Given the description of an element on the screen output the (x, y) to click on. 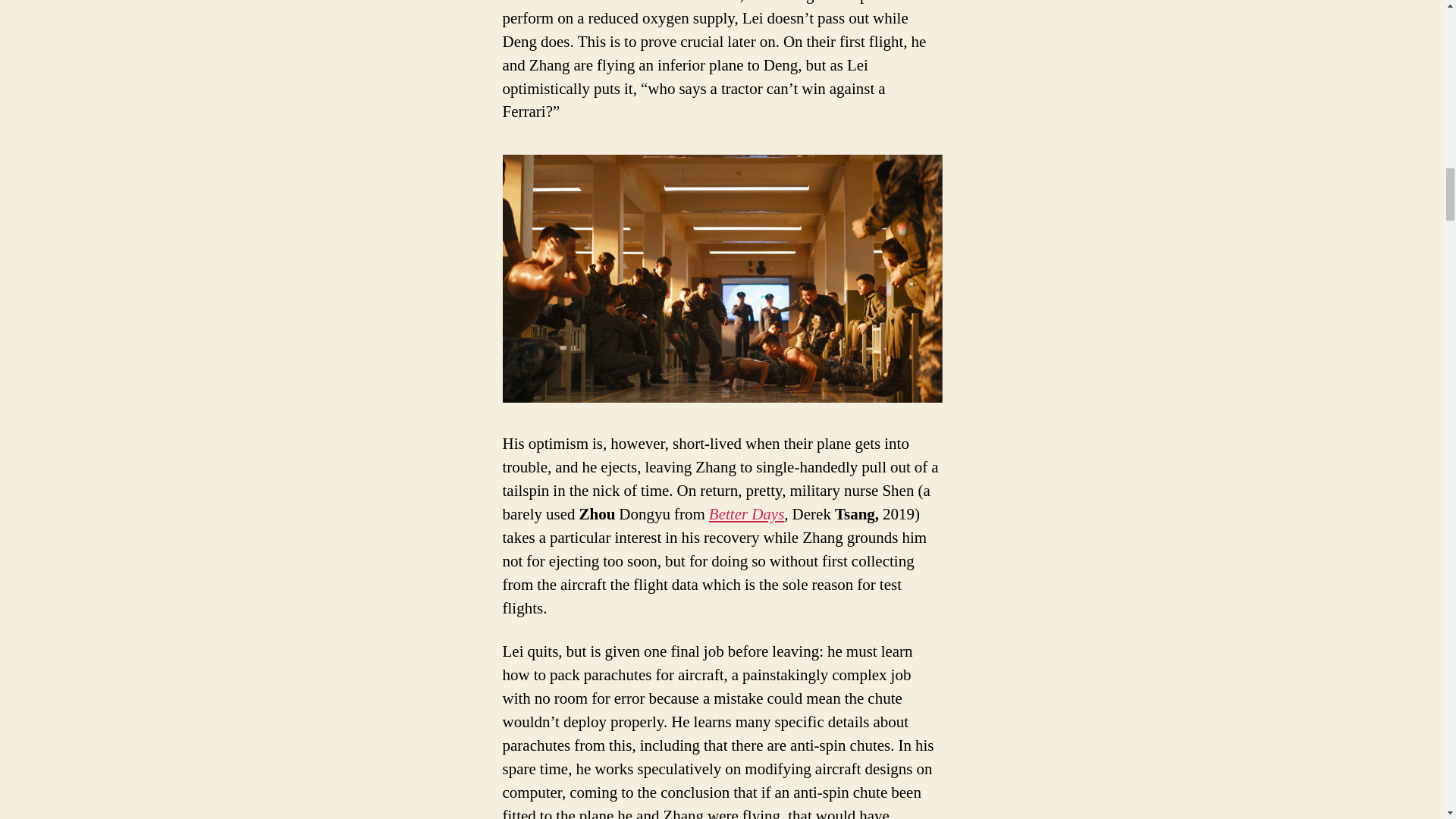
Better Days (746, 514)
